Given the description of an element on the screen output the (x, y) to click on. 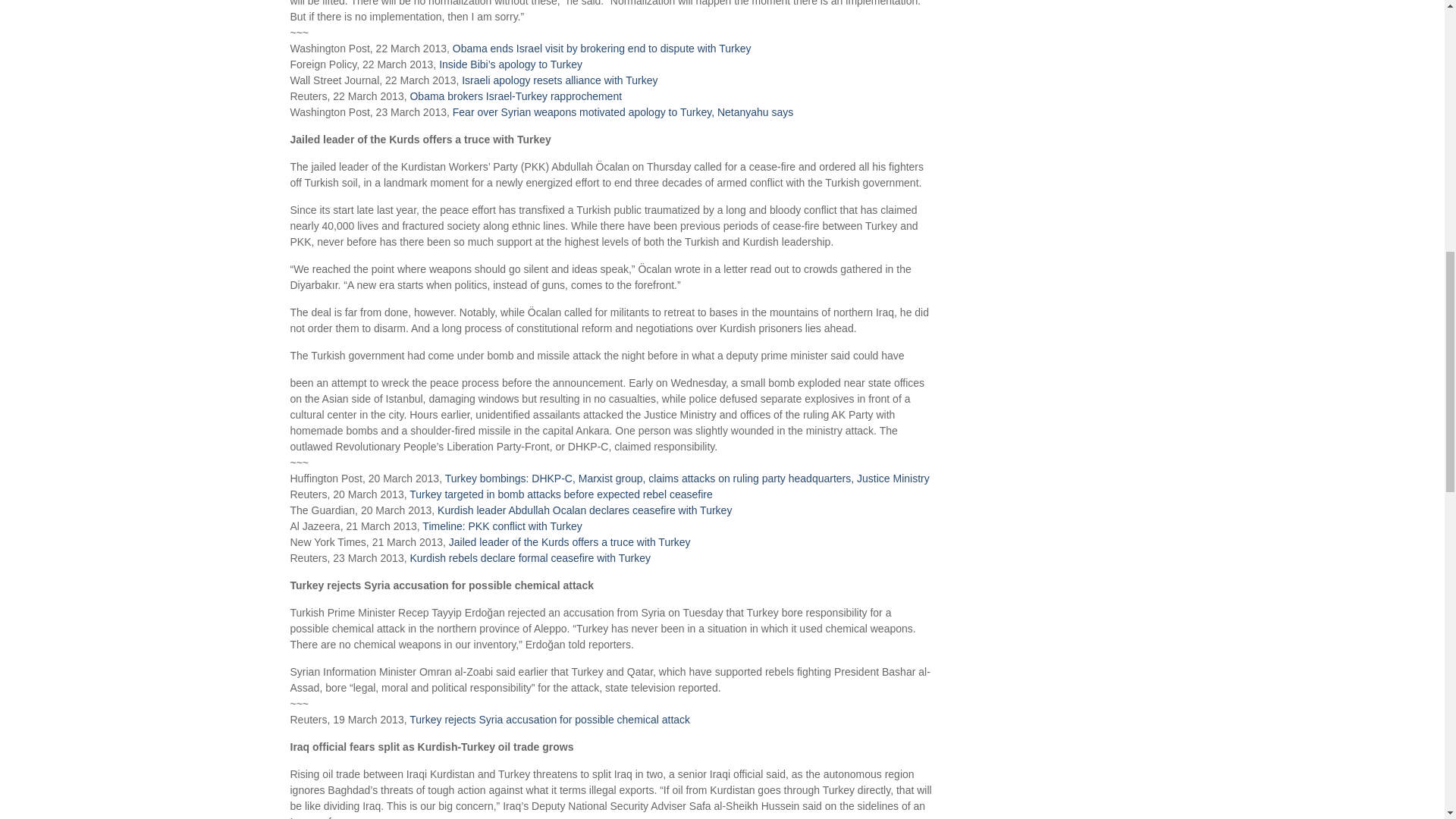
Turkey rejects Syria accusation for possible chemical attack (549, 719)
Kurdish rebels declare formal ceasefire with Turkey (529, 558)
Obama brokers Israel-Turkey rapprochement (515, 96)
Timeline: PKK conflict with Turkey (501, 526)
Israeli apology resets alliance with Turkey (559, 80)
Jailed leader of the Kurds offers a truce with Turkey (569, 541)
